Given the description of an element on the screen output the (x, y) to click on. 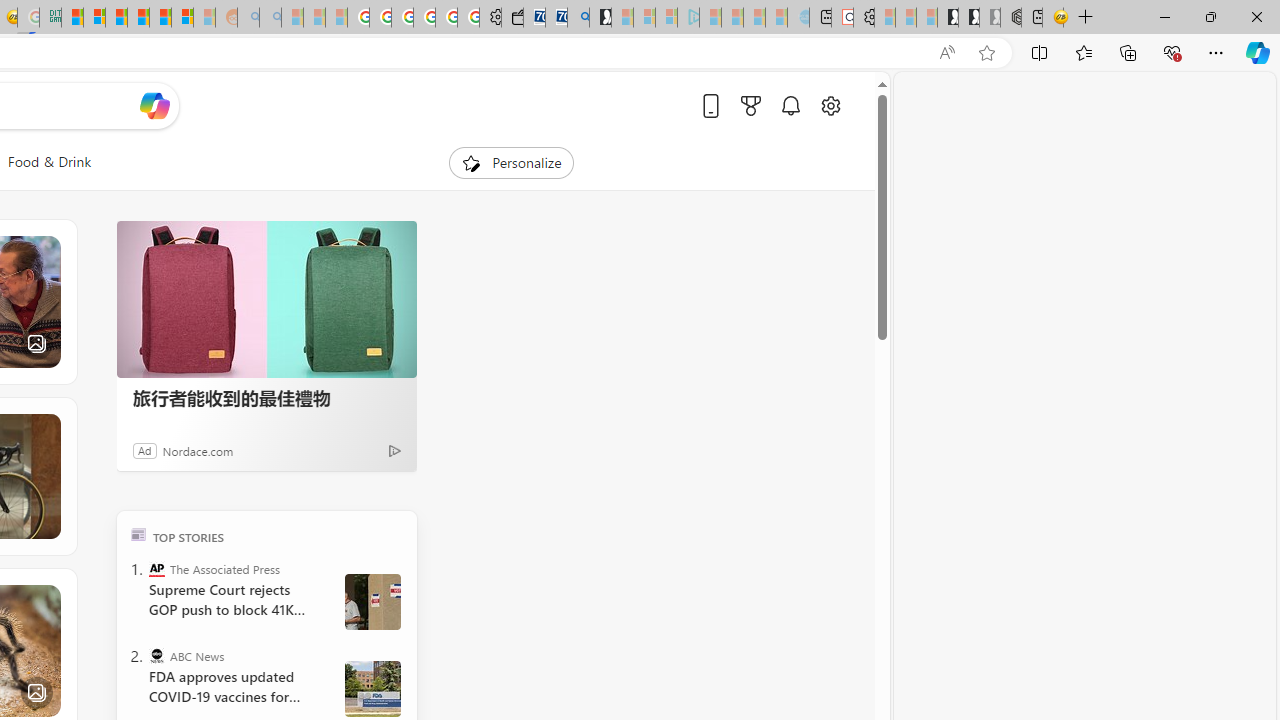
ABC News (156, 655)
TOP (138, 534)
